Given the description of an element on the screen output the (x, y) to click on. 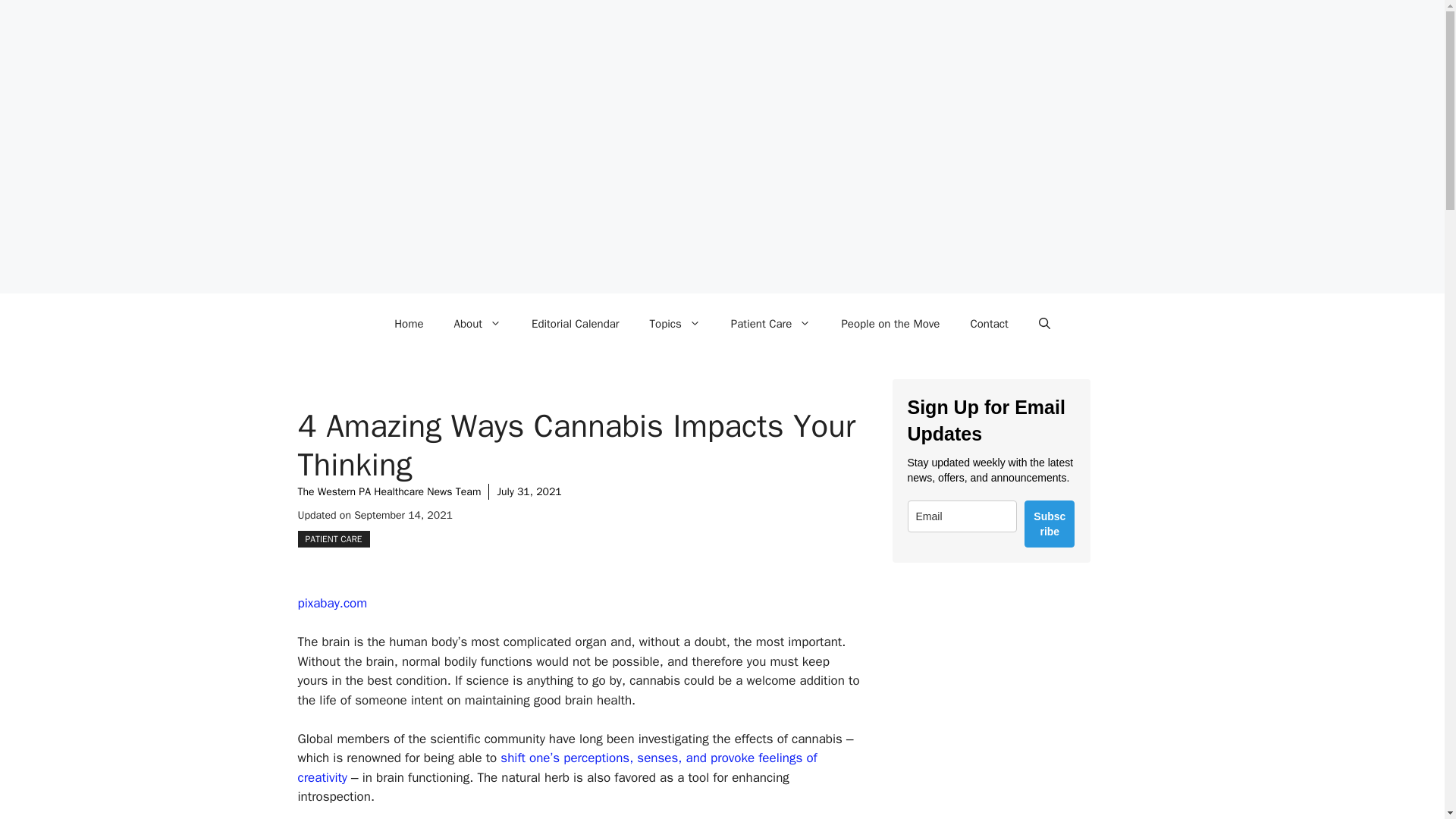
People on the Move (890, 323)
pixabay.com (331, 602)
Editorial Calendar (575, 323)
Topics (675, 323)
The Western PA Healthcare News Team (388, 491)
Contact (989, 323)
Patient Care (771, 323)
About (477, 323)
PATIENT CARE (333, 538)
